Given the description of an element on the screen output the (x, y) to click on. 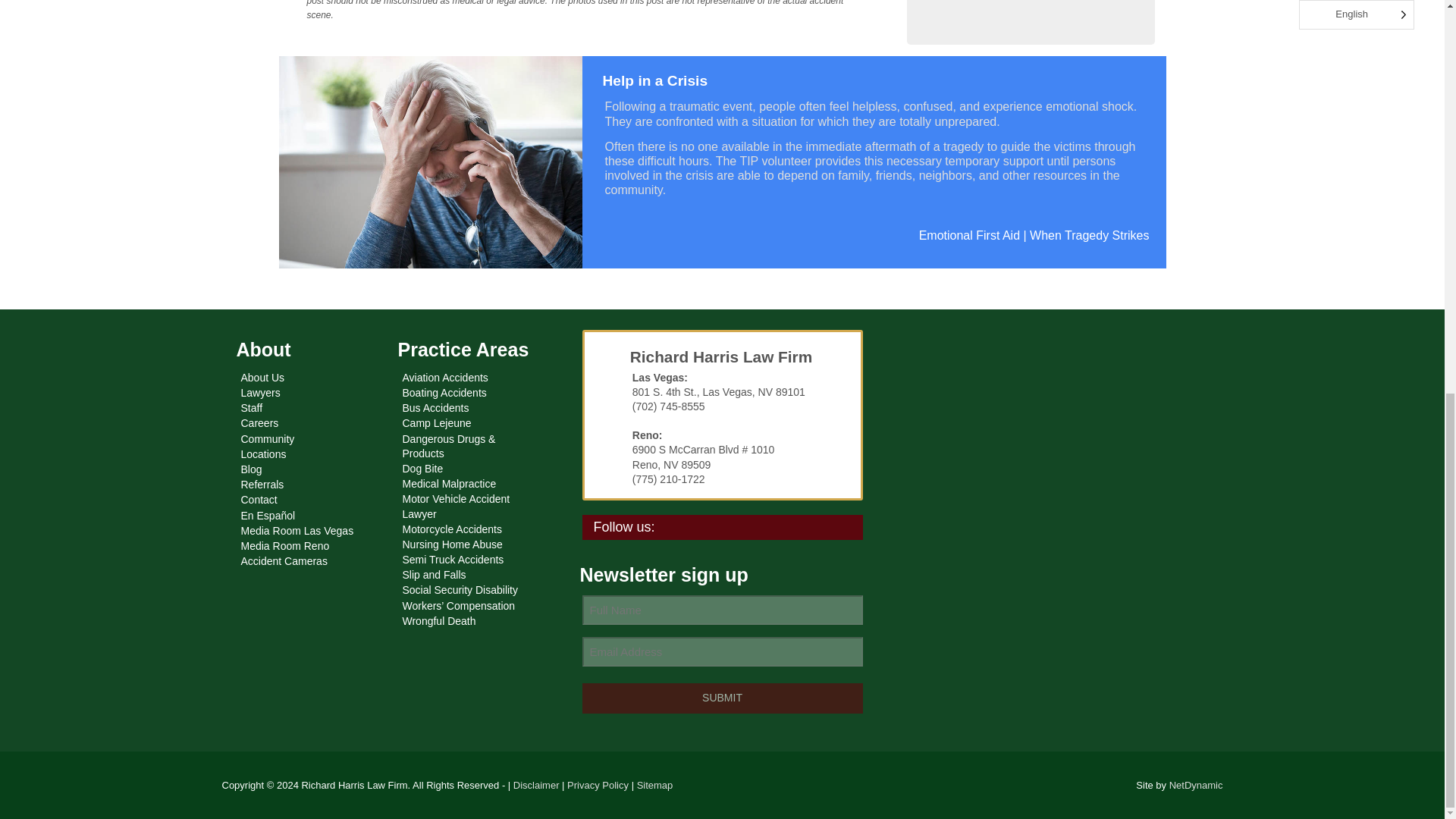
SUBMIT (722, 697)
Richard Harris Reno Google Map Location (1059, 608)
Richard Harris Las Vegas Google Map Location (1059, 445)
